Given the description of an element on the screen output the (x, y) to click on. 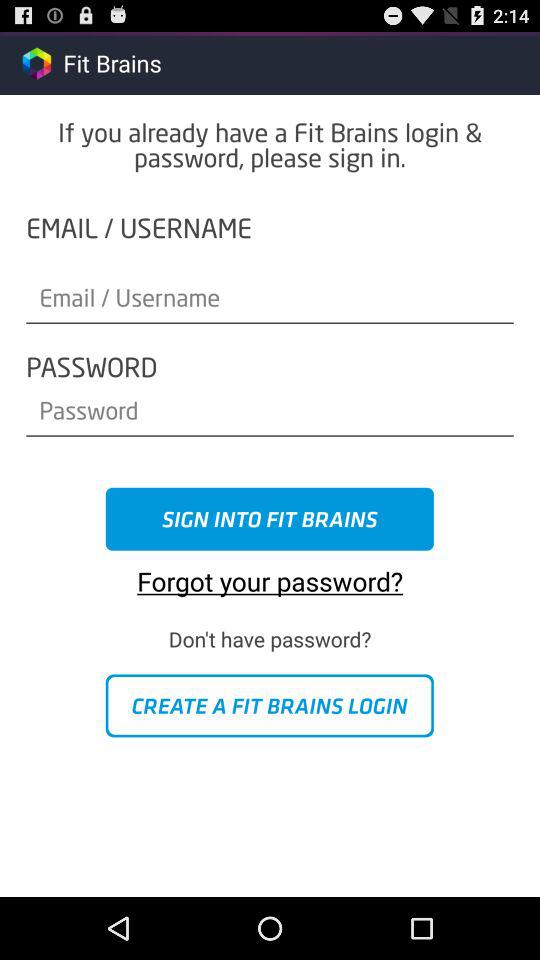
flip to the forgot your password? app (270, 574)
